Given the description of an element on the screen output the (x, y) to click on. 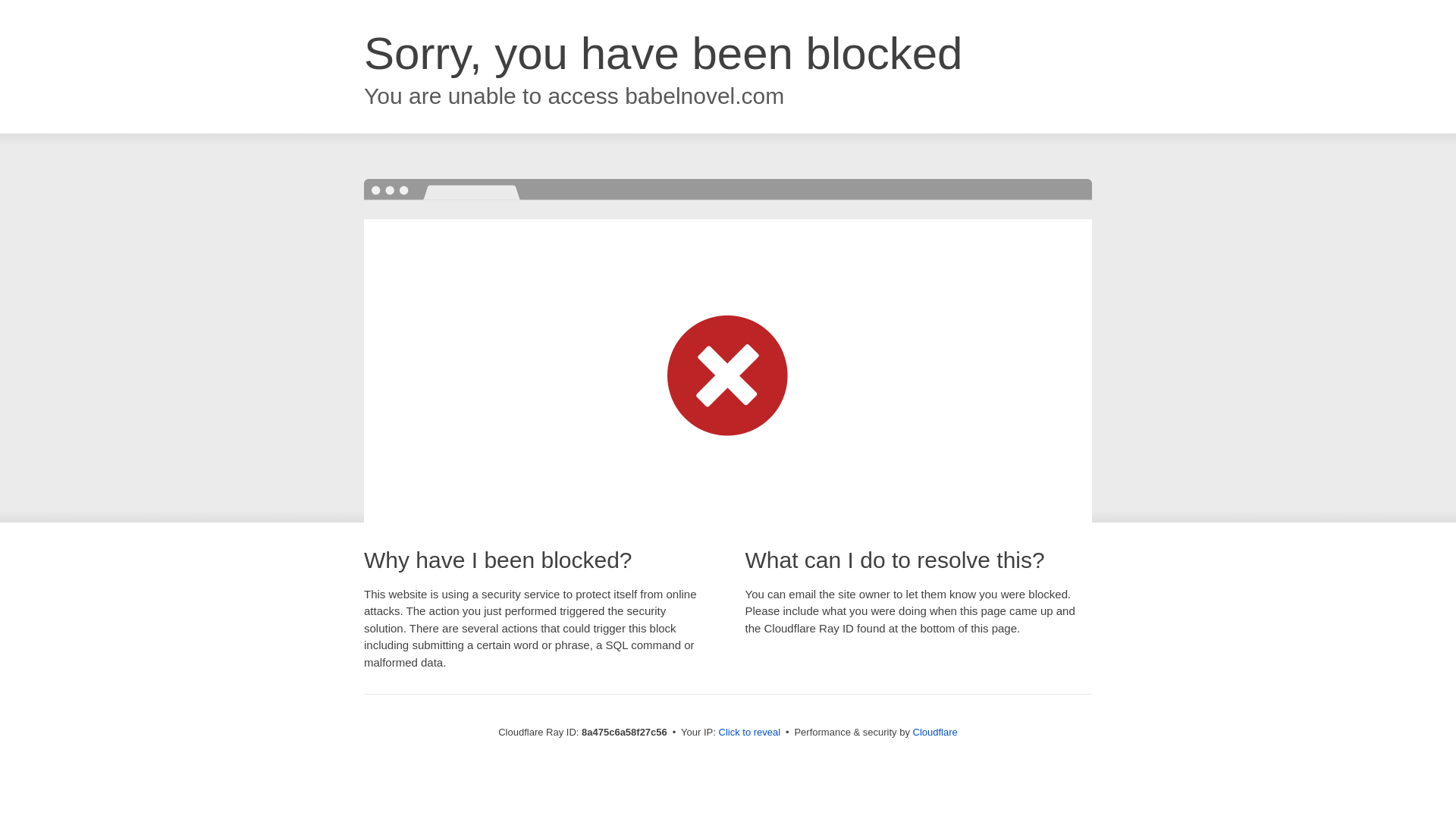
Click to reveal (749, 732)
Cloudflare (935, 731)
